Given the description of an element on the screen output the (x, y) to click on. 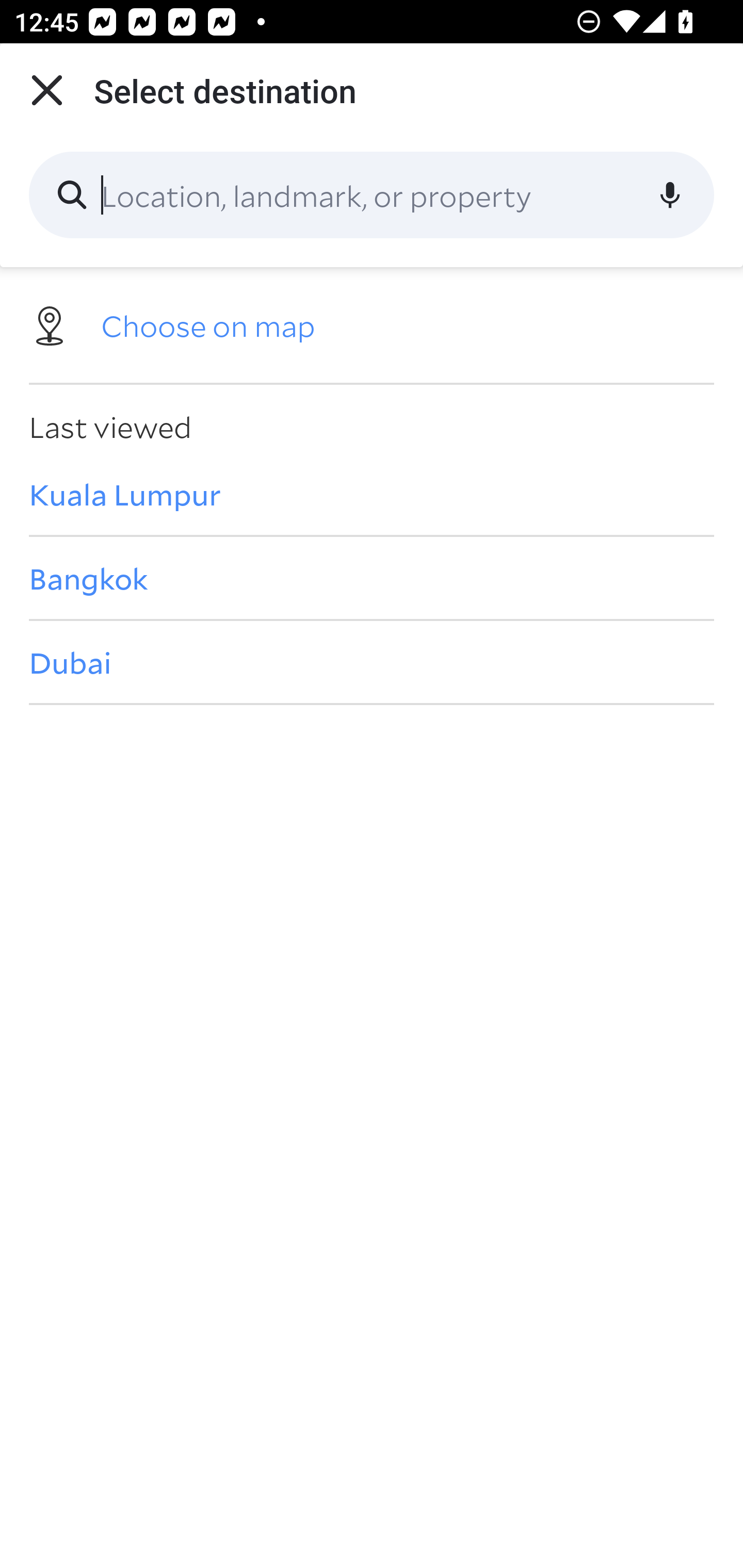
Location, landmark, or property (371, 195)
Choose on map (371, 324)
Kuala Lumpur (371, 493)
Bangkok (371, 577)
Dubai (371, 661)
